Given the description of an element on the screen output the (x, y) to click on. 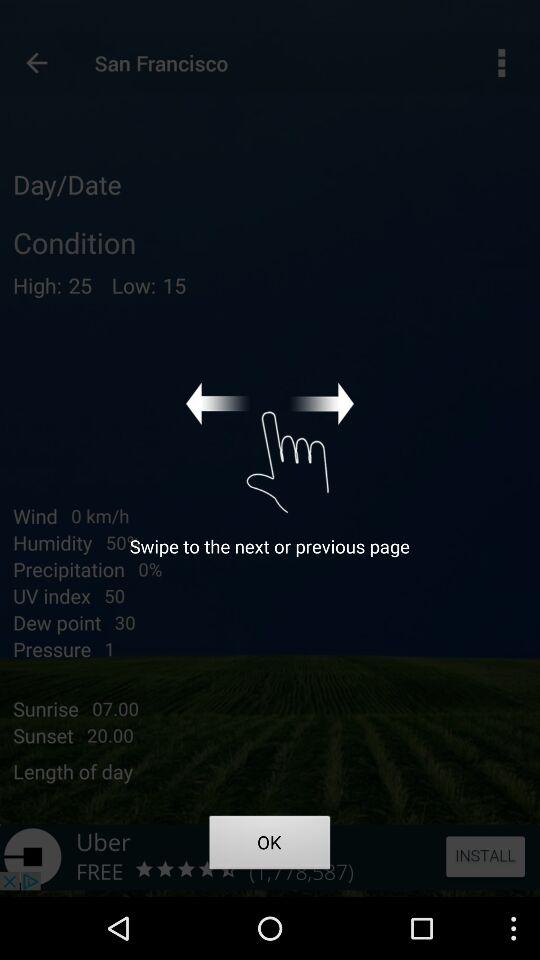
scroll until ok (269, 845)
